Given the description of an element on the screen output the (x, y) to click on. 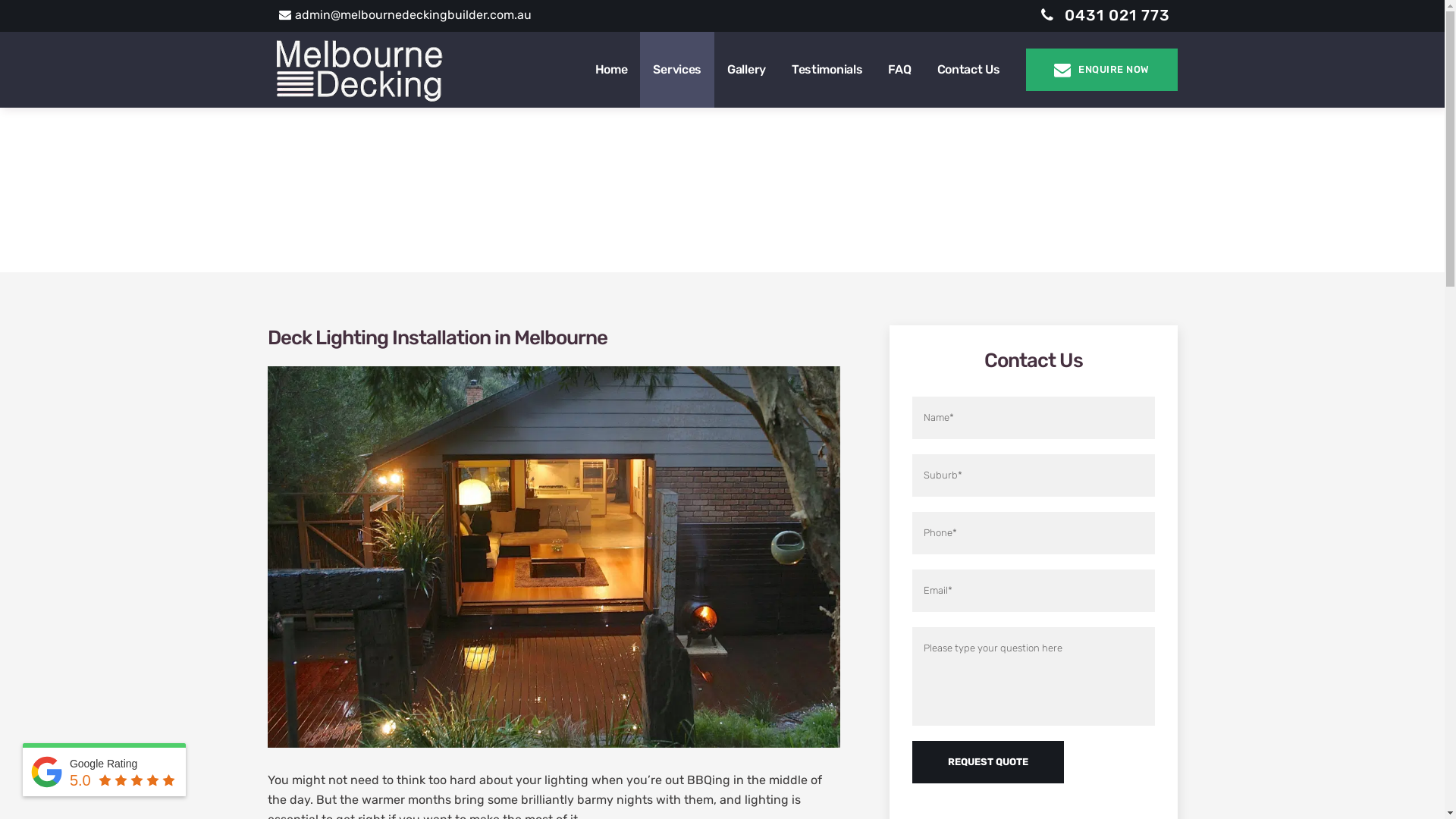
Contact Us Element type: text (967, 69)
0431 021 773 Element type: text (1104, 15)
ENQUIRE NOW Element type: text (1100, 69)
Home Element type: text (647, 215)
admin@melbournedeckingbuilder.com.au Element type: text (405, 14)
Services Element type: text (700, 215)
Services Element type: text (677, 69)
Gallery Element type: text (746, 69)
Request Quote Element type: text (987, 761)
FAQ Element type: text (899, 69)
Home Element type: text (611, 69)
Testimonials Element type: text (826, 69)
